Given the description of an element on the screen output the (x, y) to click on. 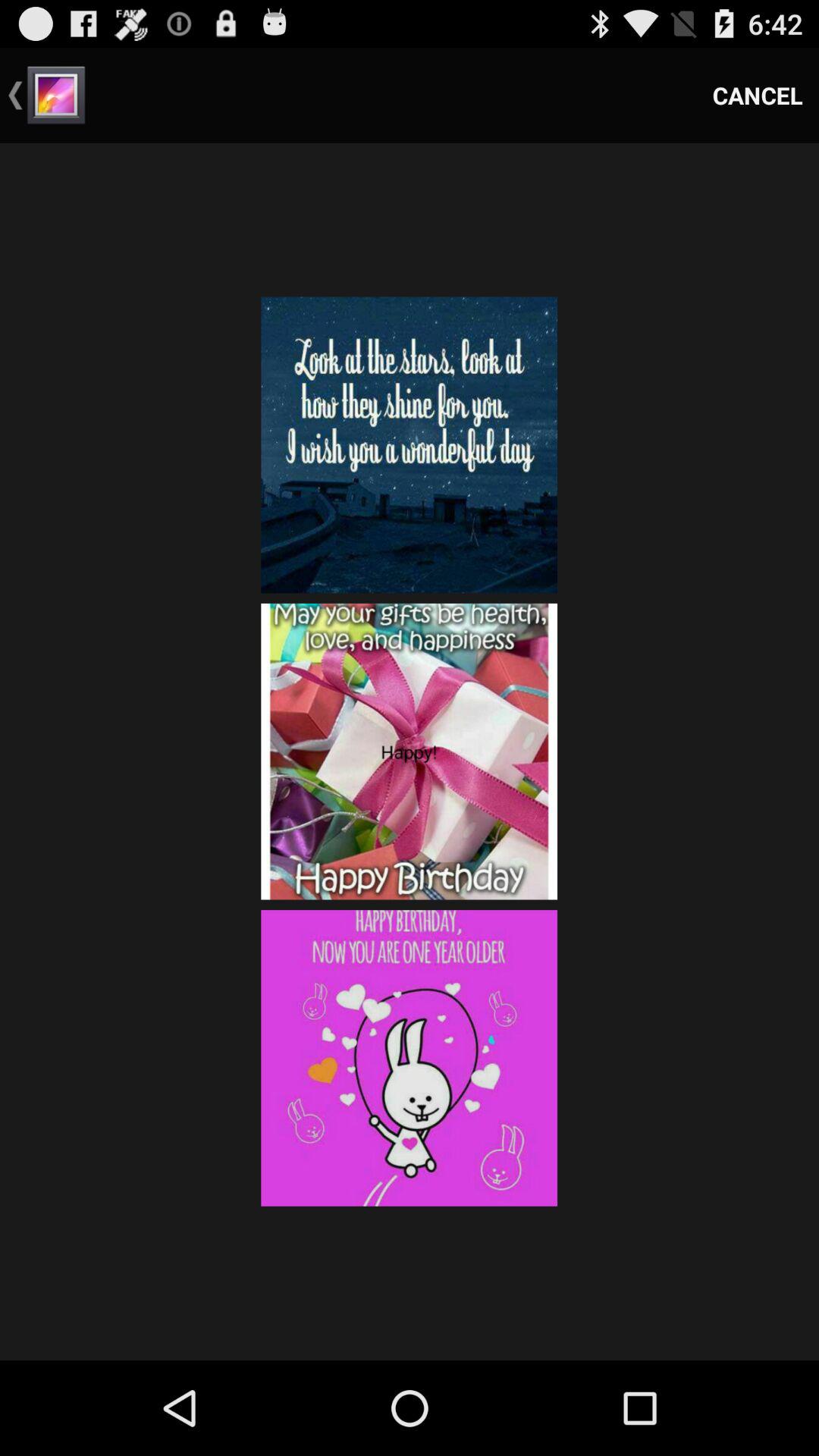
choose the icon at the top right corner (757, 95)
